Given the description of an element on the screen output the (x, y) to click on. 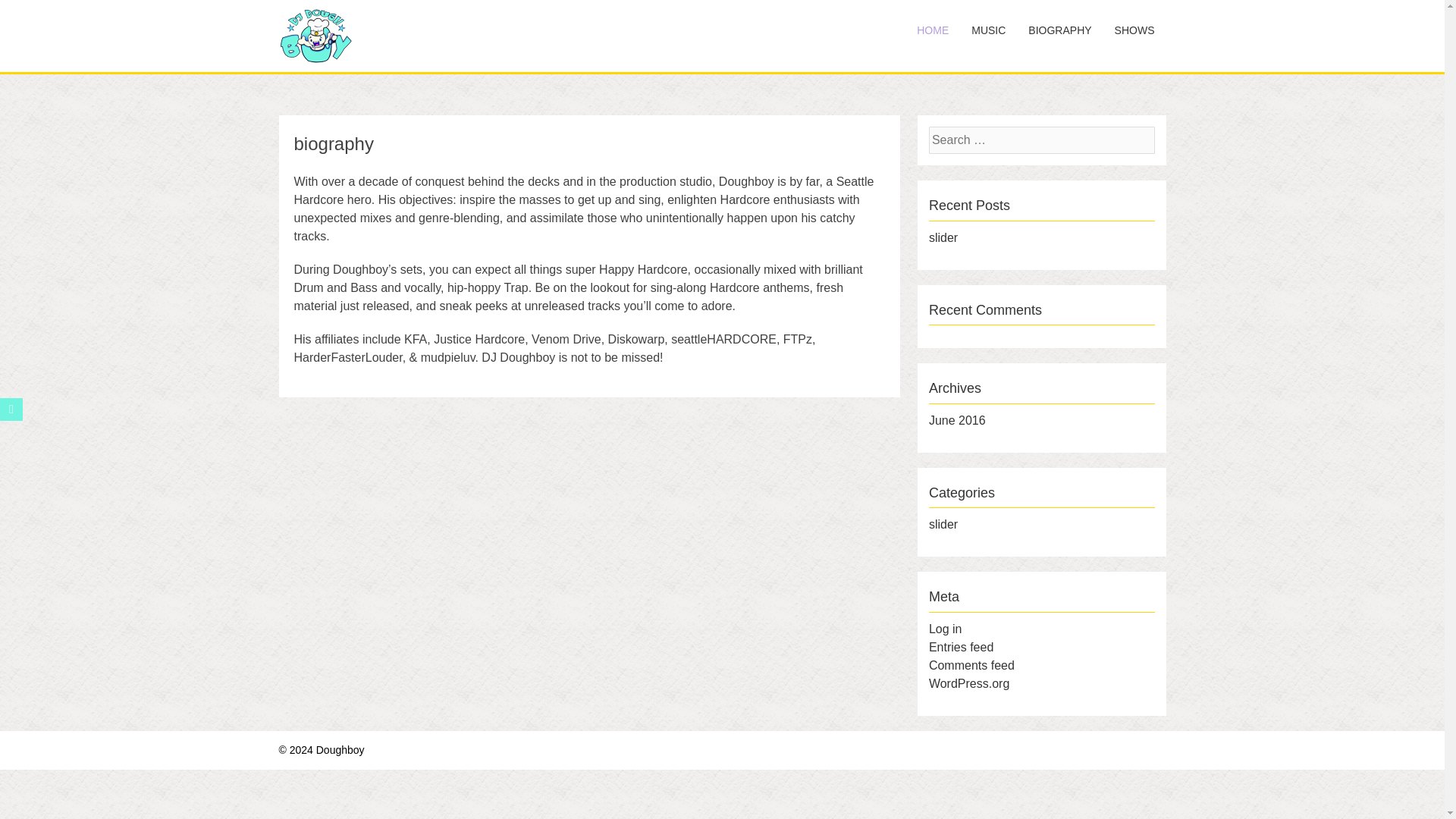
slider (943, 523)
HOME (932, 30)
BIOGRAPHY (1059, 30)
SHOWS (1134, 30)
WordPress.org (968, 683)
MUSIC (987, 30)
Log in (945, 628)
Entries feed (960, 646)
Search (34, 13)
slider (943, 237)
Comments feed (971, 665)
June 2016 (956, 420)
